Given the description of an element on the screen output the (x, y) to click on. 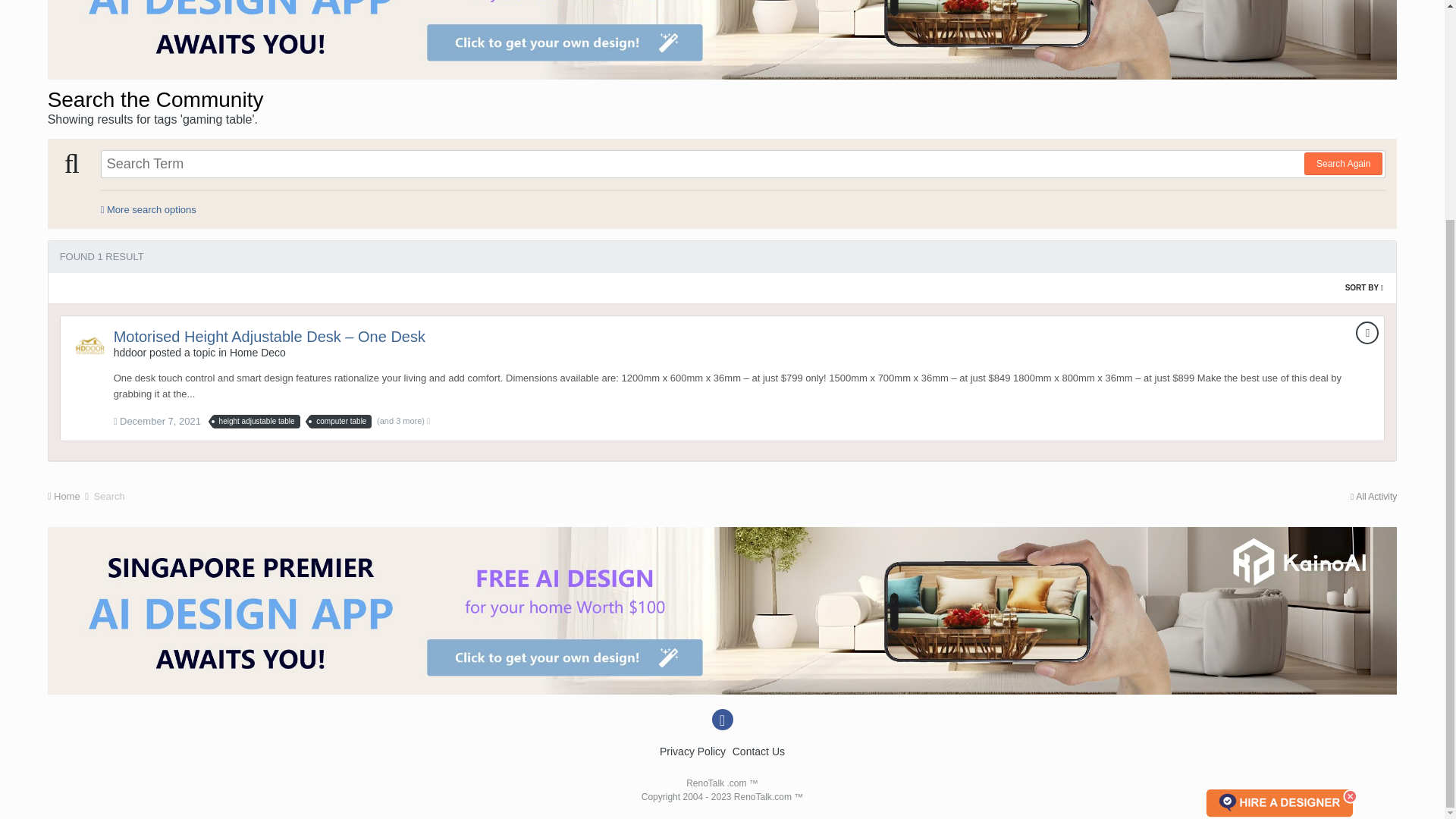
Topic (1366, 332)
Go to hddoor's profile (90, 345)
Find other content tagged with 'height adjustable table' (256, 421)
Home (69, 496)
Find other content tagged with 'computer table' (341, 421)
Go to hddoor's profile (130, 352)
